Given the description of an element on the screen output the (x, y) to click on. 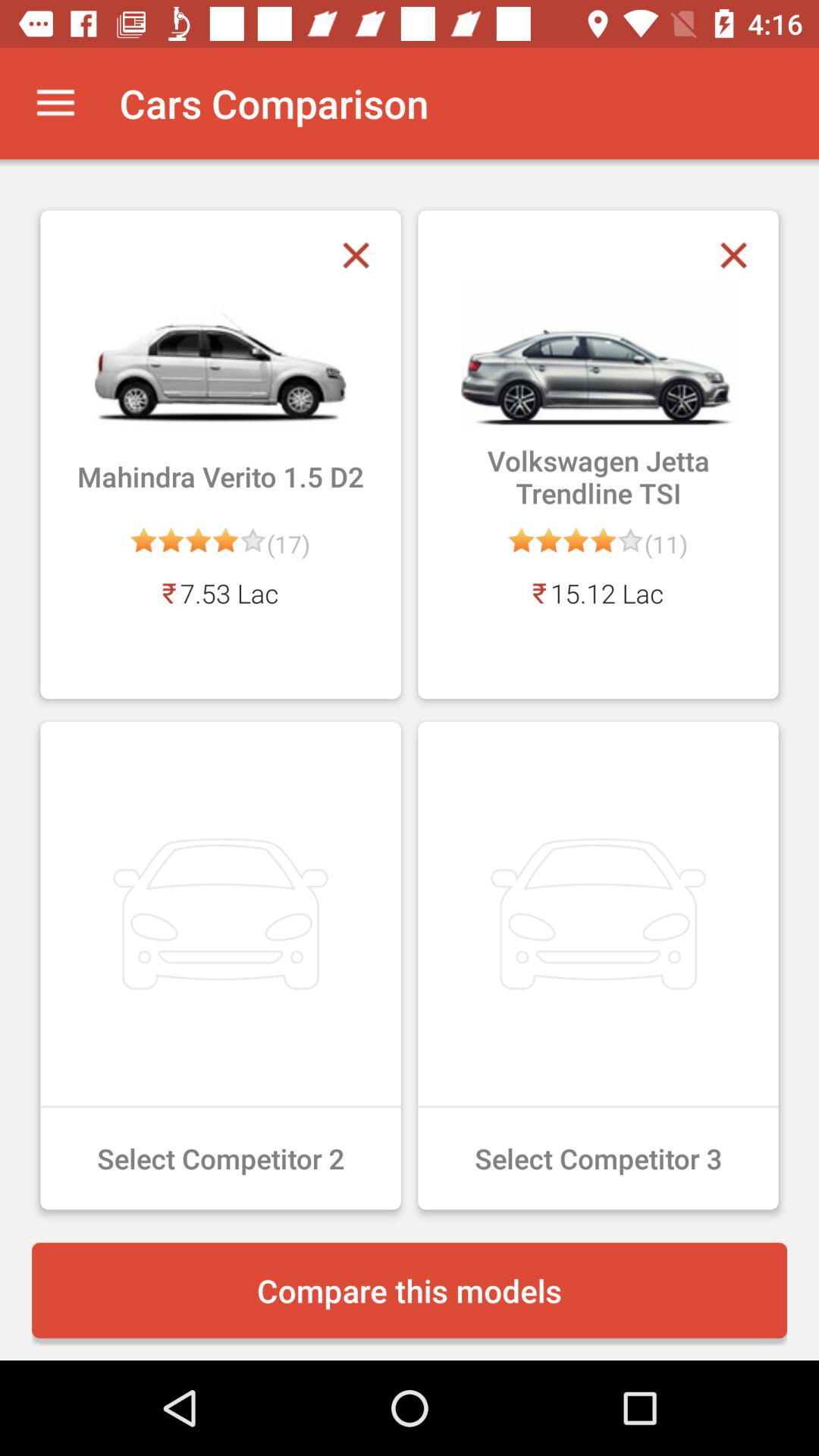
open compare this models icon (409, 1290)
